Given the description of an element on the screen output the (x, y) to click on. 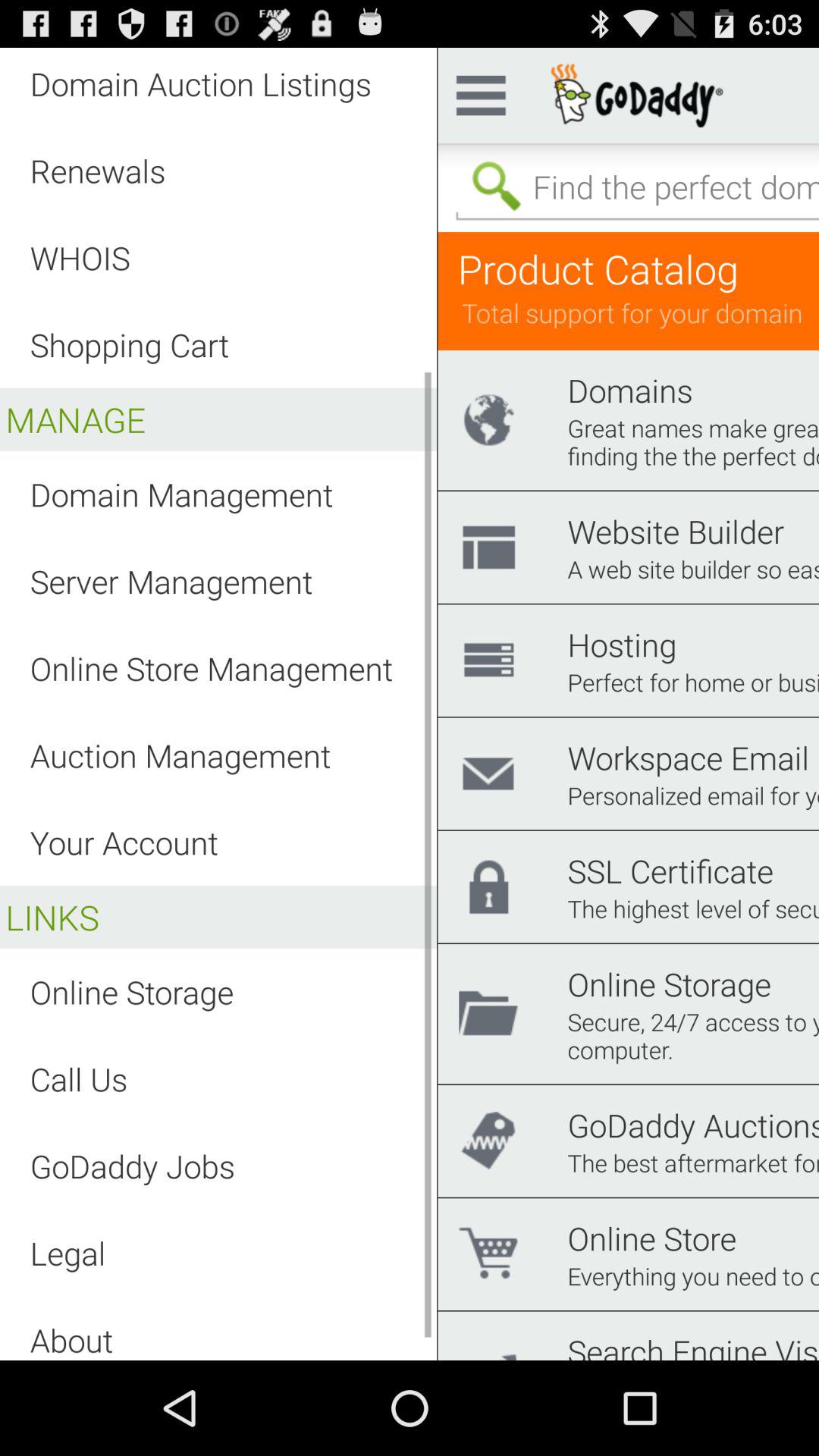
jump until about app (71, 1339)
